Given the description of an element on the screen output the (x, y) to click on. 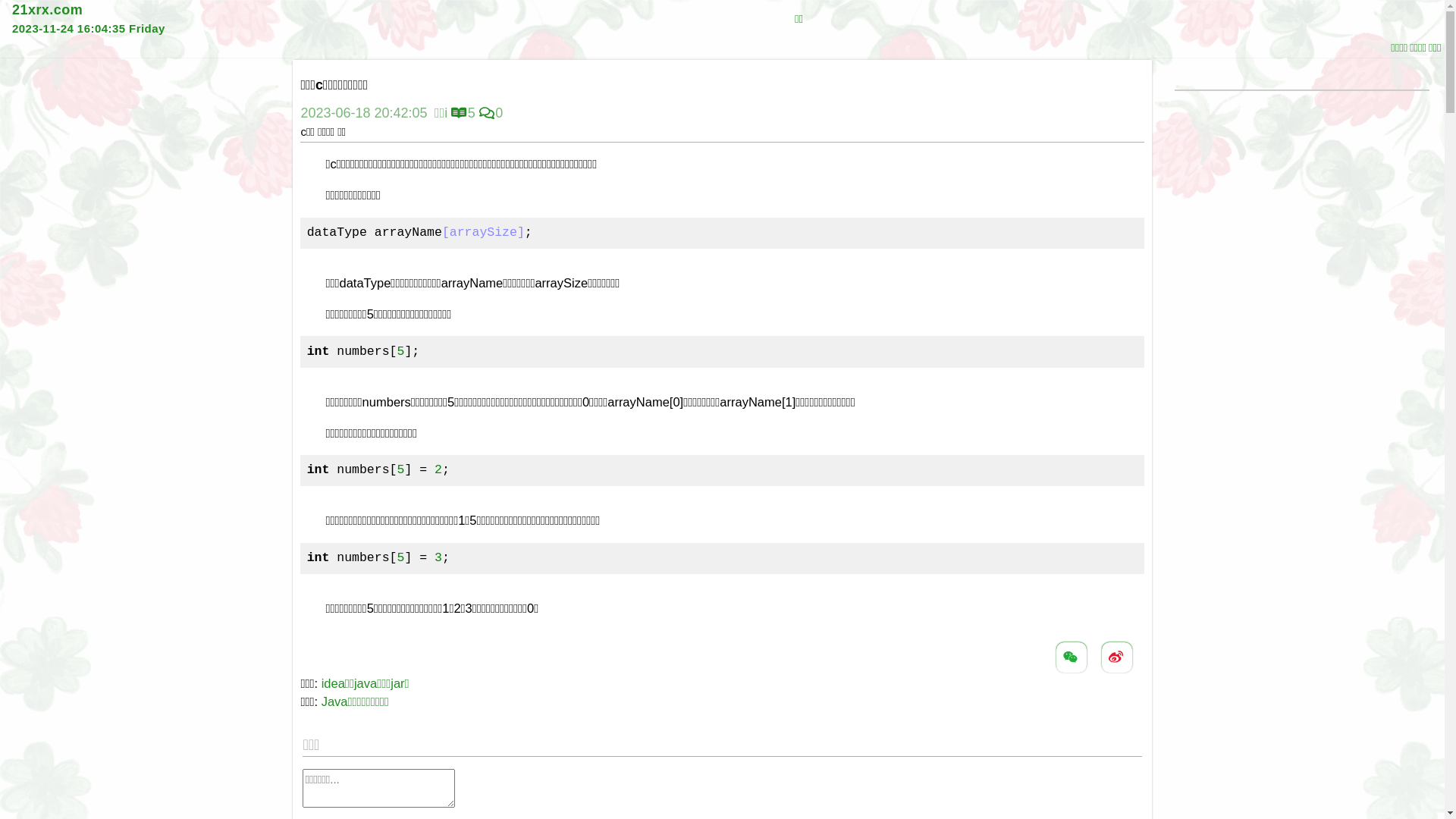
21xrx.com Element type: text (47, 9)
   Element type: text (1116, 657)
   Element type: text (1071, 657)
